Given the description of an element on the screen output the (x, y) to click on. 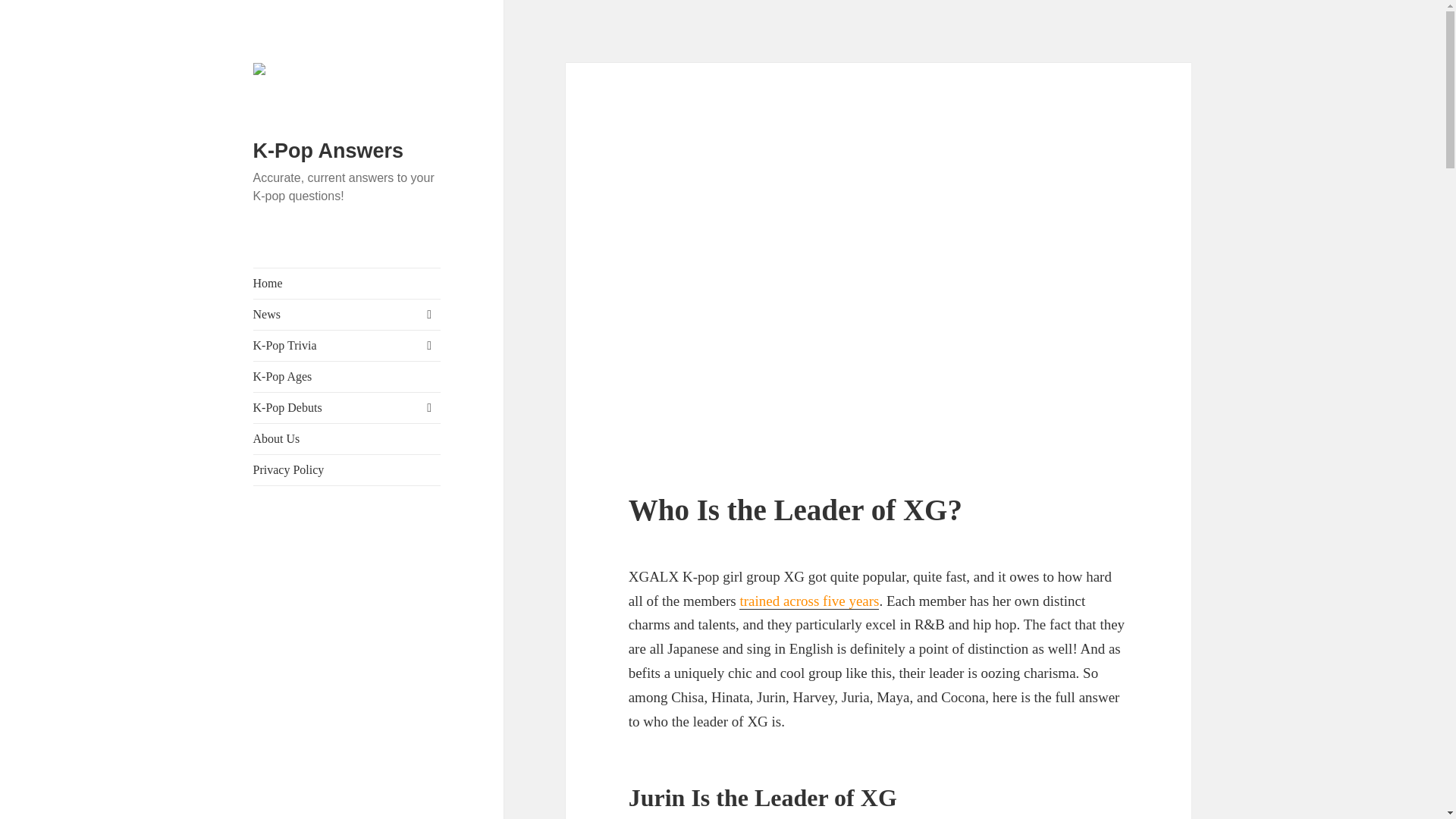
K-Pop Trivia (347, 345)
Privacy Policy (347, 470)
K-Pop Debuts (347, 408)
expand child menu (428, 314)
trained across five years (809, 600)
expand child menu (428, 407)
expand child menu (428, 345)
K-Pop Answers (328, 150)
About Us (347, 439)
K-Pop Ages (347, 376)
